Given the description of an element on the screen output the (x, y) to click on. 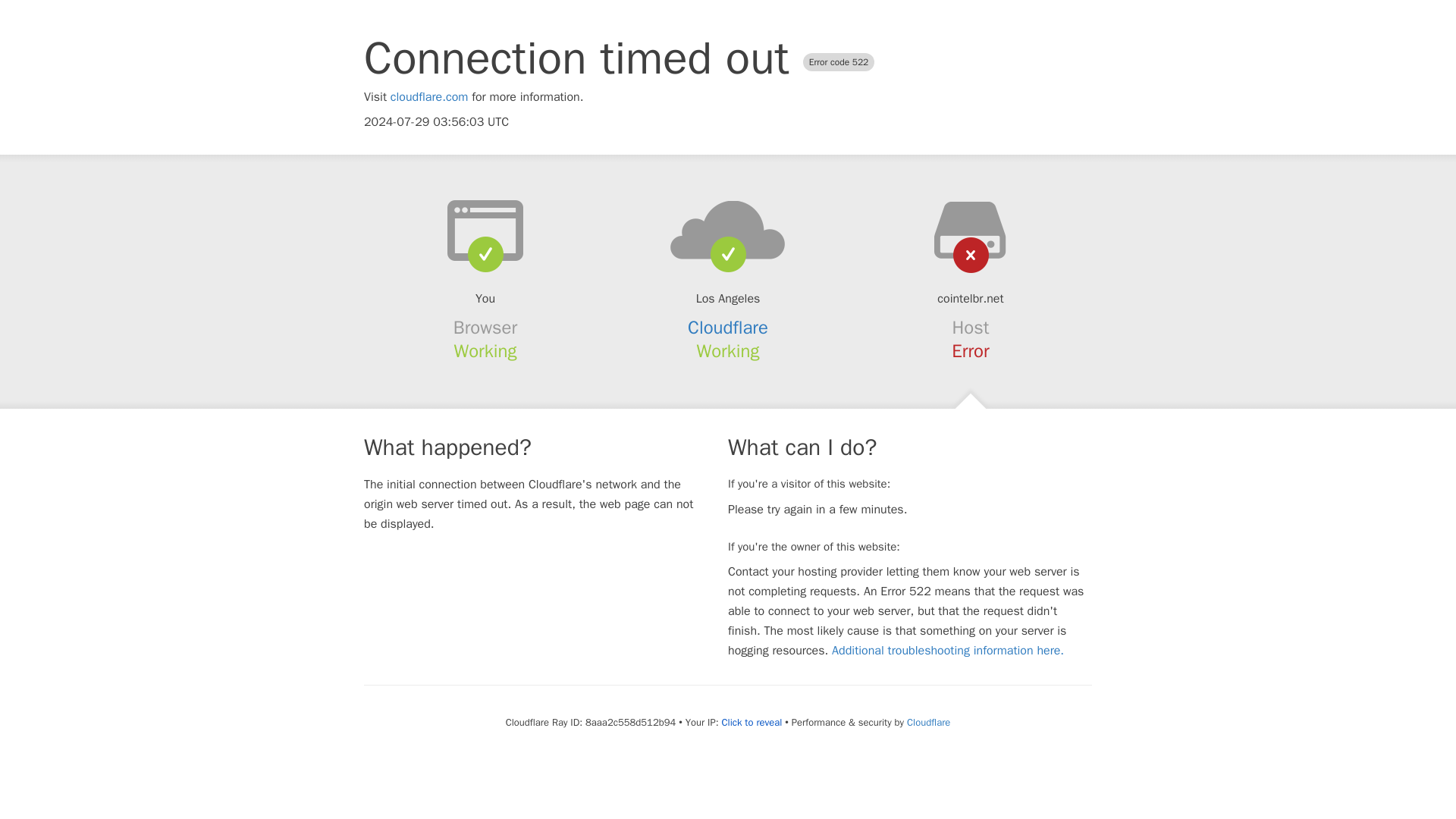
Cloudflare (727, 327)
Cloudflare (928, 721)
cloudflare.com (429, 96)
Click to reveal (750, 722)
Additional troubleshooting information here. (947, 650)
